Given the description of an element on the screen output the (x, y) to click on. 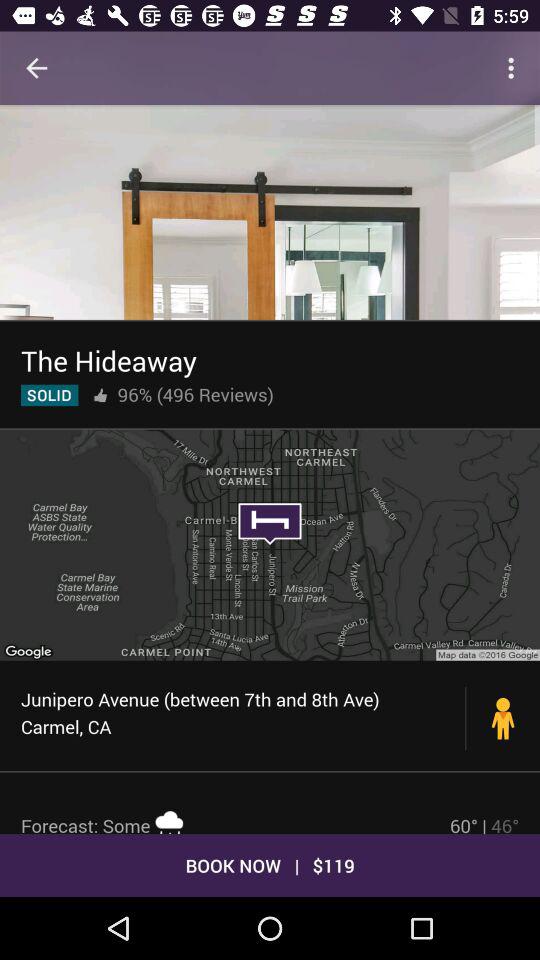
turn off icon above the 96% (496 reviews) (108, 360)
